Given the description of an element on the screen output the (x, y) to click on. 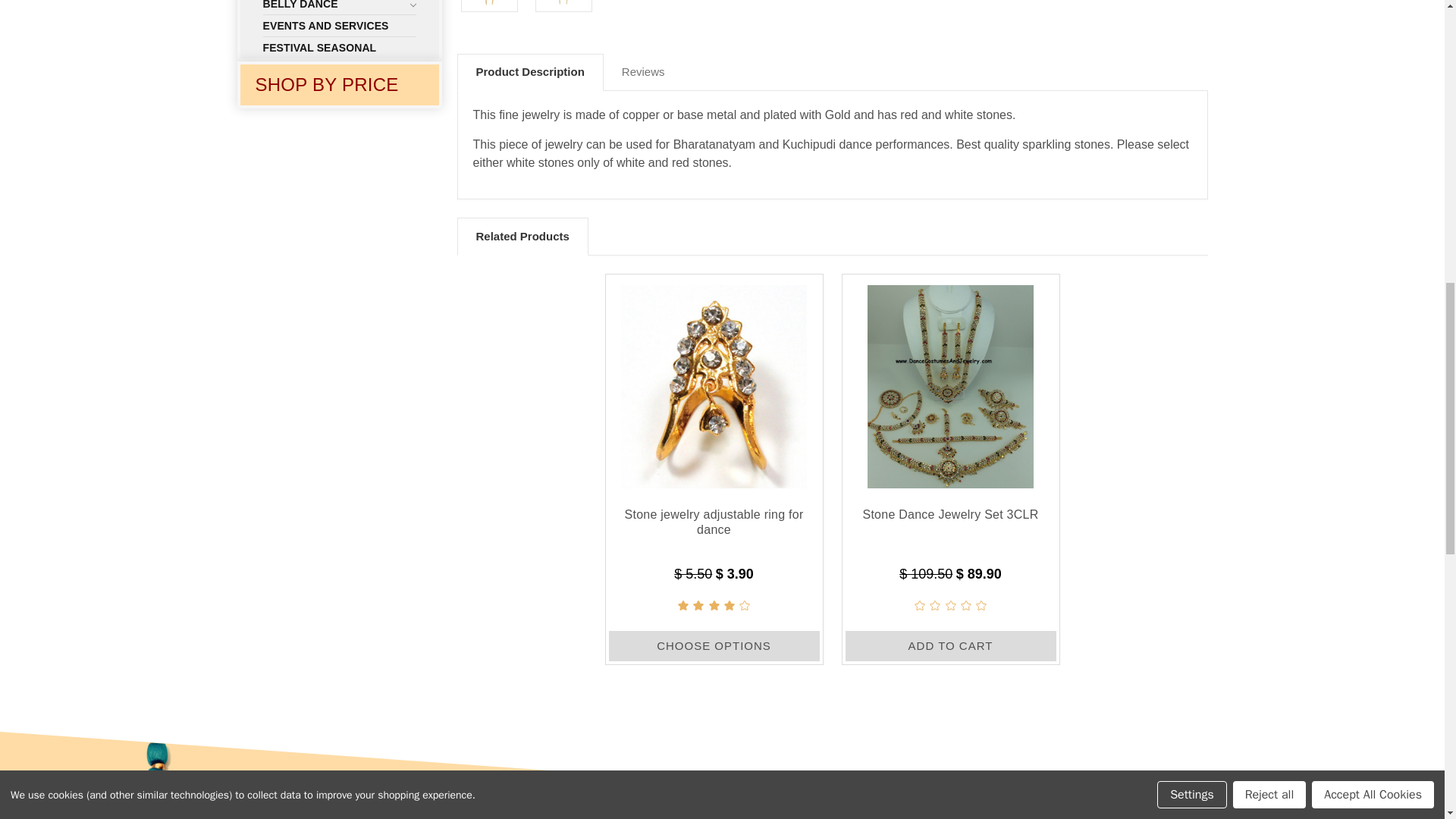
Stone Dance Jewelry Set 3CLR (951, 382)
Stone jewelry hair ring tiara for dance (563, 2)
Stone jewelry adjustable ring for dance (712, 382)
Stone jewelry hair ring tiara for dance (489, 2)
